Given the description of an element on the screen output the (x, y) to click on. 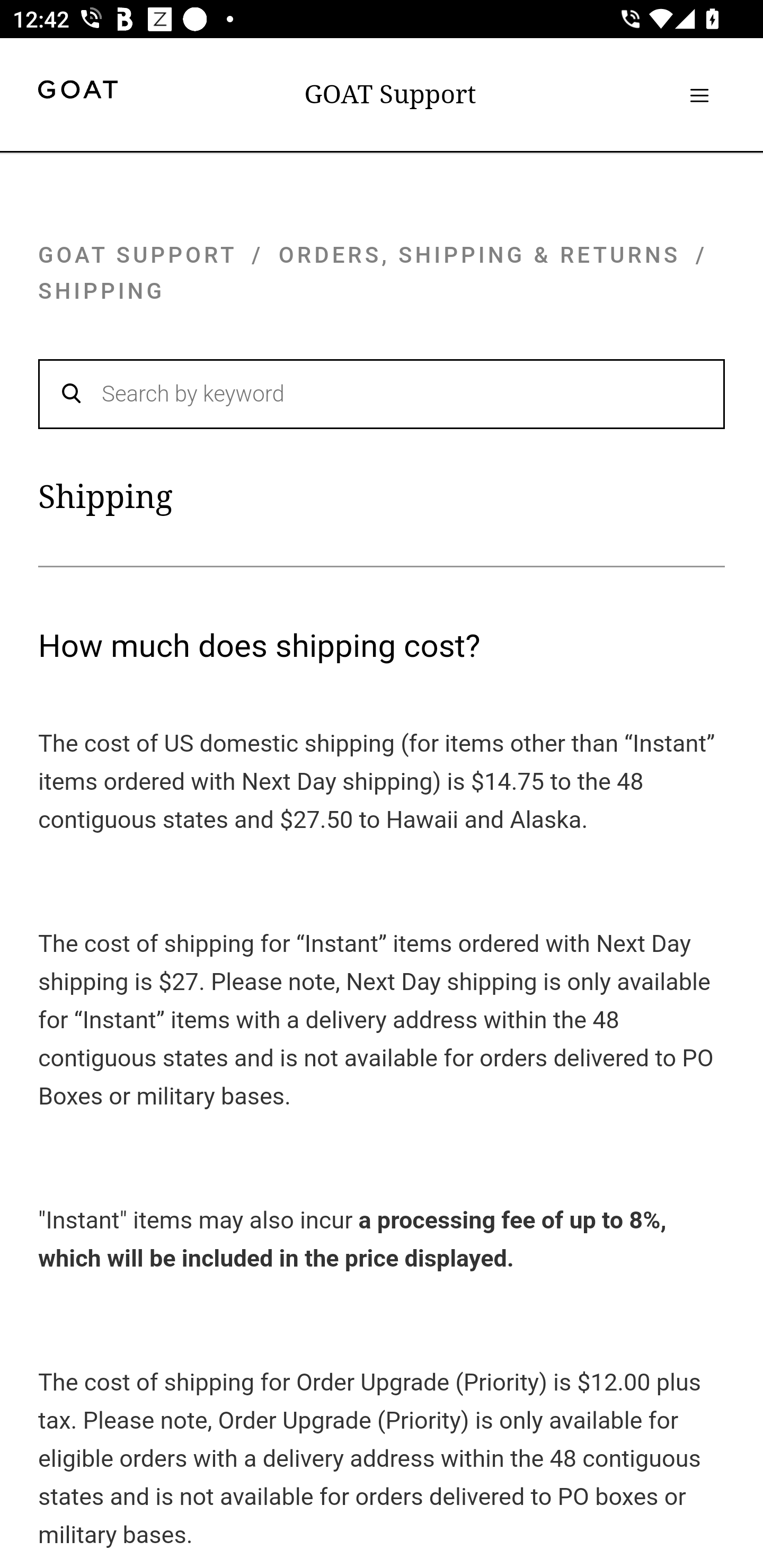
goat header logo (77, 92)
Toggle navigation menu (698, 94)
GOAT Support (389, 94)
GOAT SUPPORT (137, 254)
ORDERS, SHIPPING & RETURNS (480, 254)
SHIPPING (101, 291)
